Given the description of an element on the screen output the (x, y) to click on. 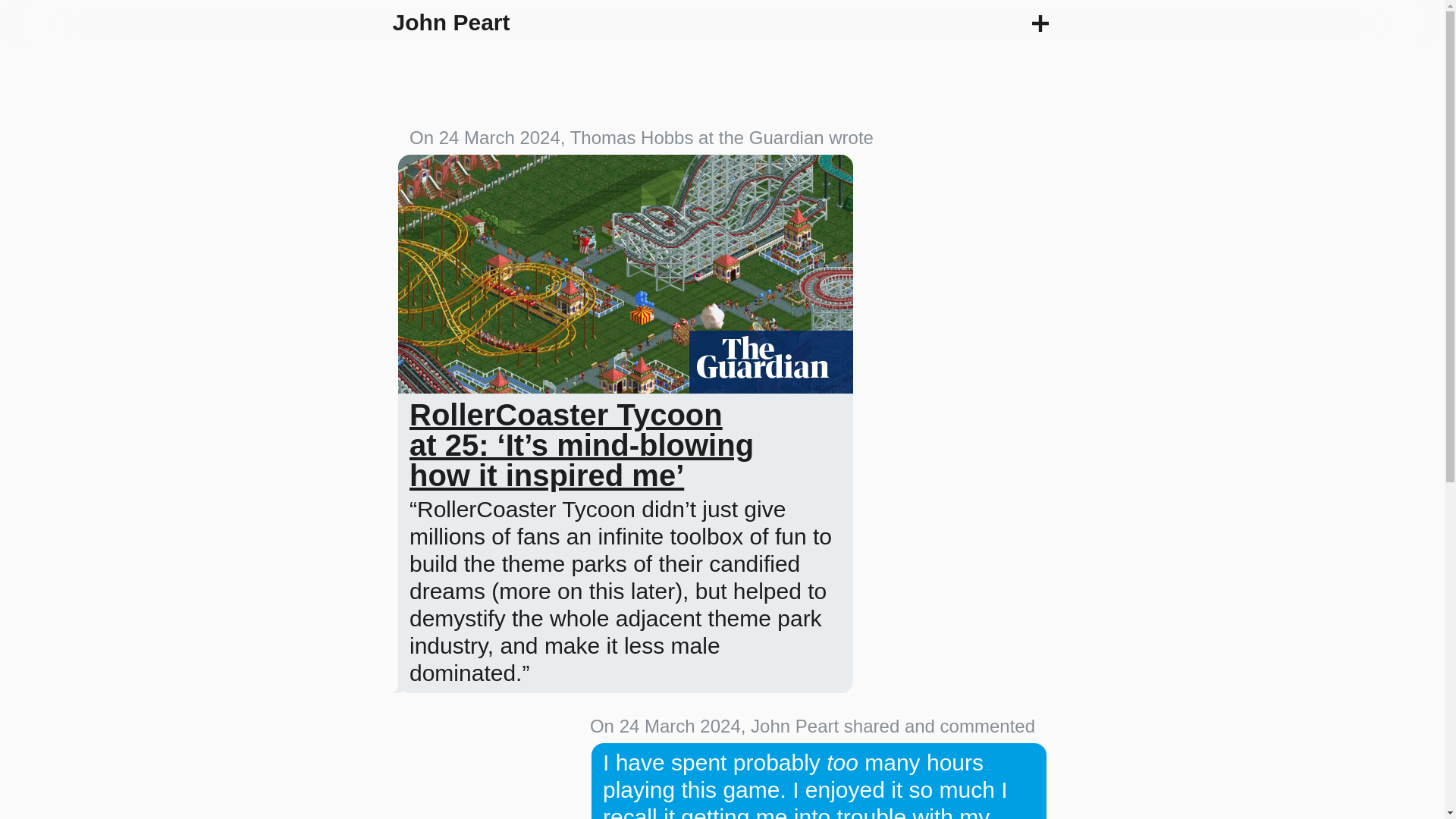
shared and commented (939, 725)
Thomas Hobbs (632, 137)
the Guardian (771, 137)
John Peart (452, 22)
Menu (1039, 23)
John Peart (794, 725)
wrote (850, 137)
